Given the description of an element on the screen output the (x, y) to click on. 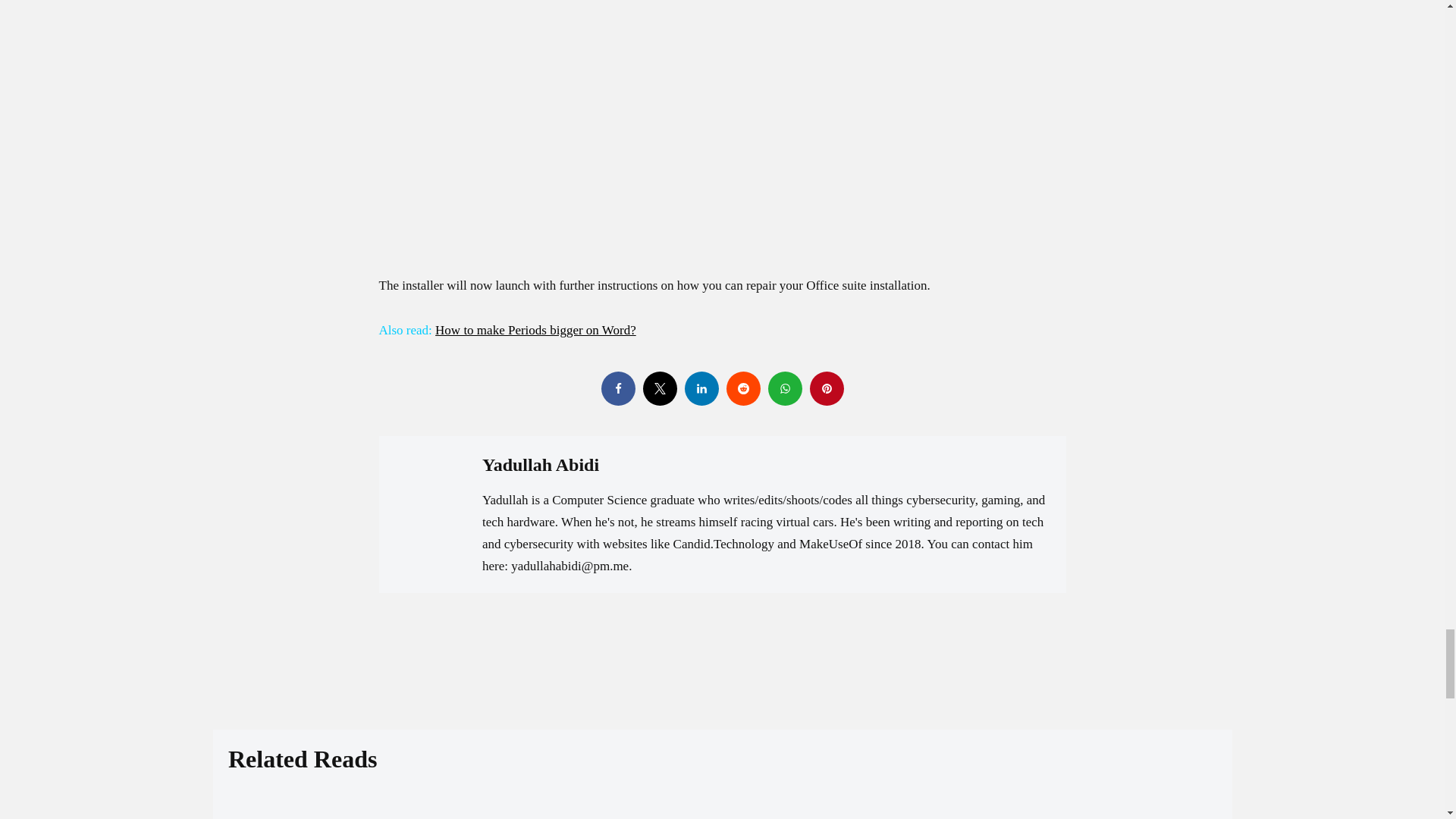
Pinterest (826, 388)
Reddit (743, 388)
Facebook (616, 388)
Whatsapp (784, 388)
Twitter (660, 388)
Linkedin (700, 388)
